Given the description of an element on the screen output the (x, y) to click on. 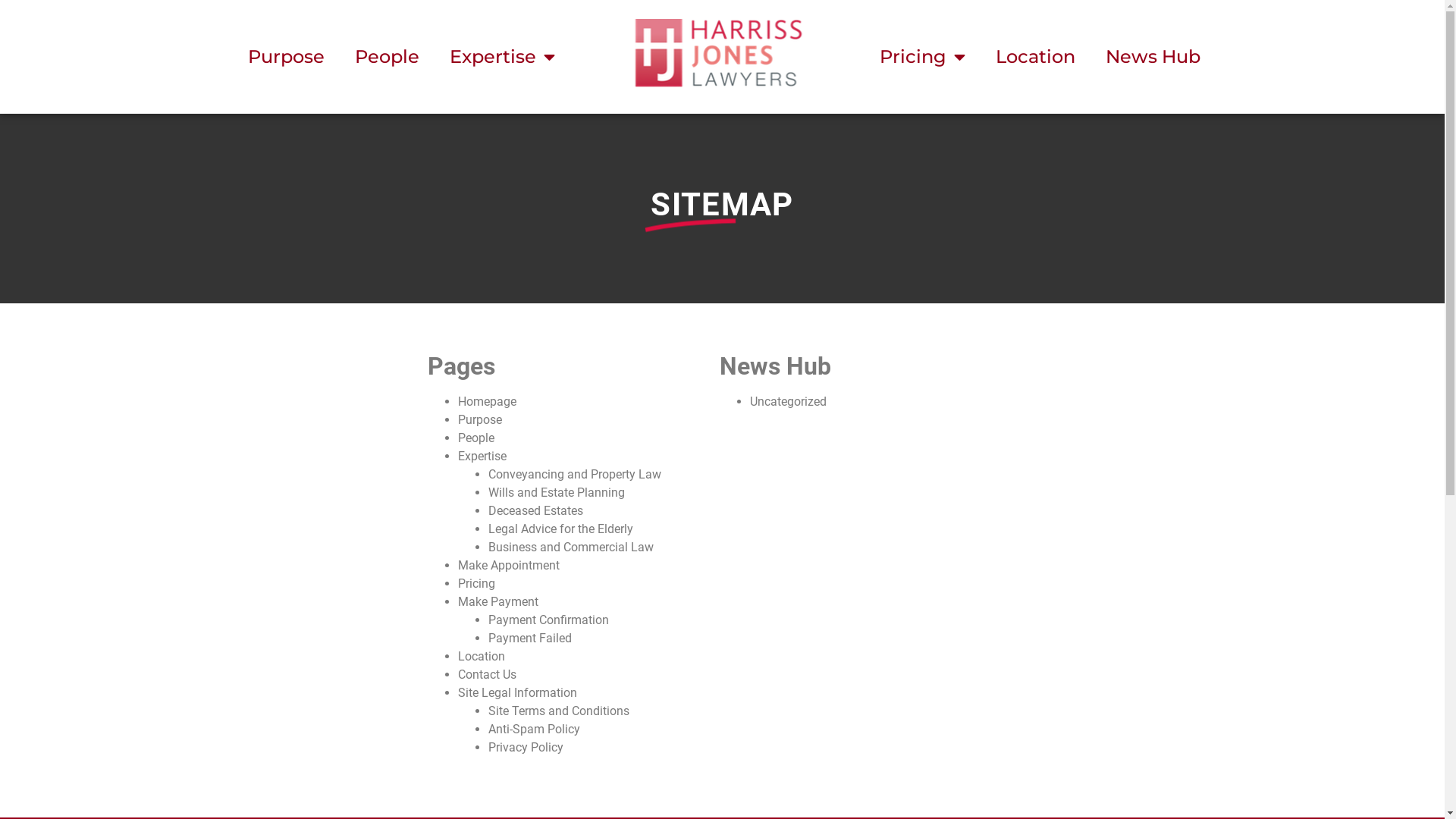
Pricing Element type: text (476, 583)
People Element type: text (476, 437)
Wills and Estate Planning Element type: text (556, 492)
Anti-Spam Policy Element type: text (534, 728)
Expertise Element type: text (502, 56)
Site Terms and Conditions Element type: text (558, 710)
Homepage Element type: text (487, 401)
Contact Us Element type: text (487, 674)
Legal Advice for the Elderly Element type: text (560, 528)
Location Element type: text (1035, 56)
Payment Confirmation Element type: text (548, 619)
Expertise Element type: text (482, 455)
Payment Failed Element type: text (529, 637)
Site Legal Information Element type: text (517, 692)
Pricing Element type: text (922, 56)
Location Element type: text (481, 656)
Purpose Element type: text (480, 419)
News Hub Element type: text (1152, 56)
Business and Commercial Law Element type: text (570, 546)
Make Appointment Element type: text (508, 565)
Privacy Policy Element type: text (525, 747)
Uncategorized Element type: text (787, 401)
Purpose Element type: text (285, 56)
Deceased Estates Element type: text (535, 510)
Conveyancing and Property Law Element type: text (574, 474)
People Element type: text (386, 56)
Make Payment Element type: text (498, 601)
